Given the description of an element on the screen output the (x, y) to click on. 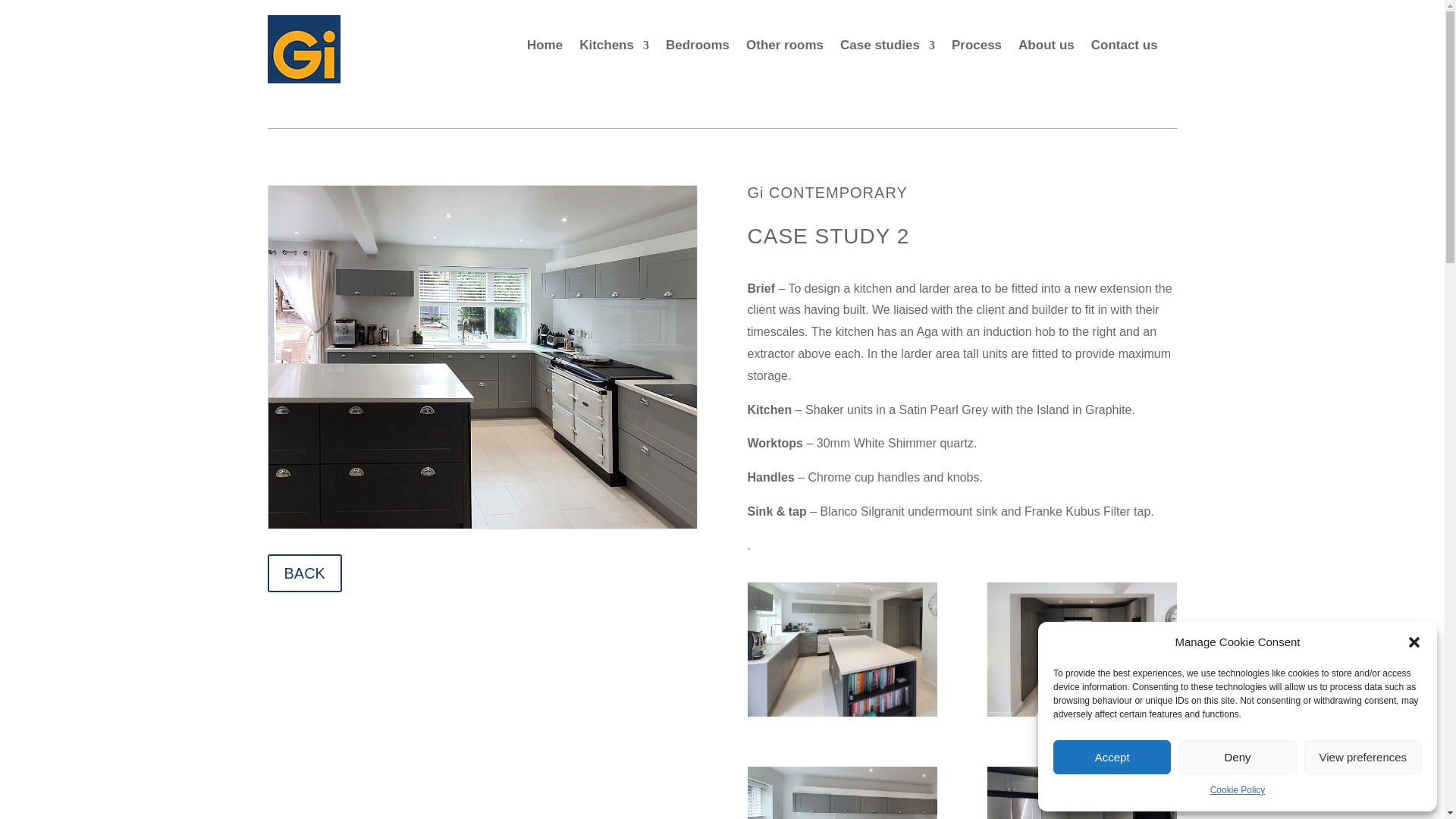
Home (544, 48)
Other rooms (784, 48)
Kitchens (614, 48)
Cookie Policy (1237, 791)
Process (976, 48)
Case studies (887, 48)
About us (1045, 48)
Bedrooms (697, 48)
View preferences (1363, 756)
Accept (1111, 756)
